Given the description of an element on the screen output the (x, y) to click on. 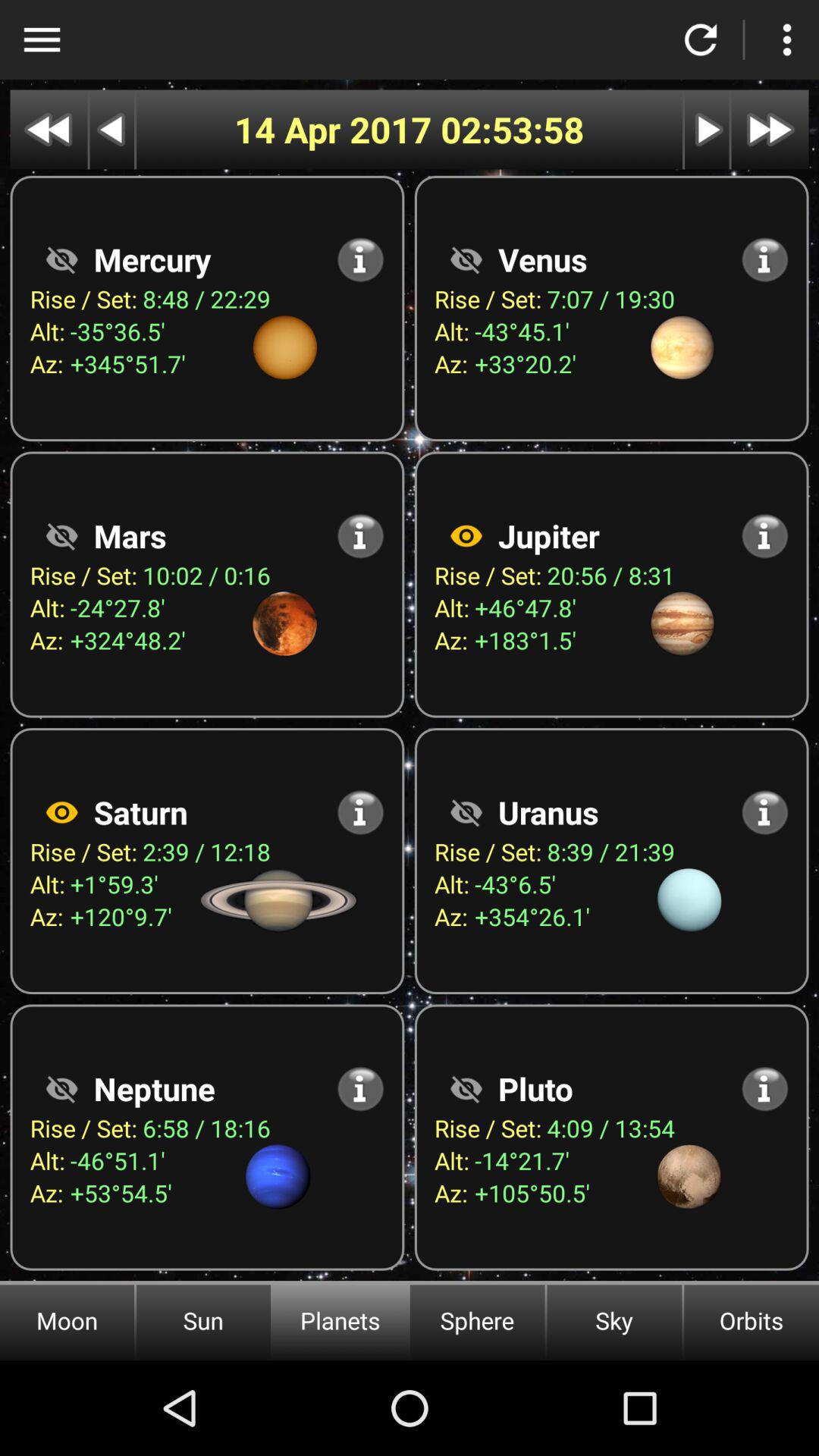
toggle visibility (61, 536)
